Given the description of an element on the screen output the (x, y) to click on. 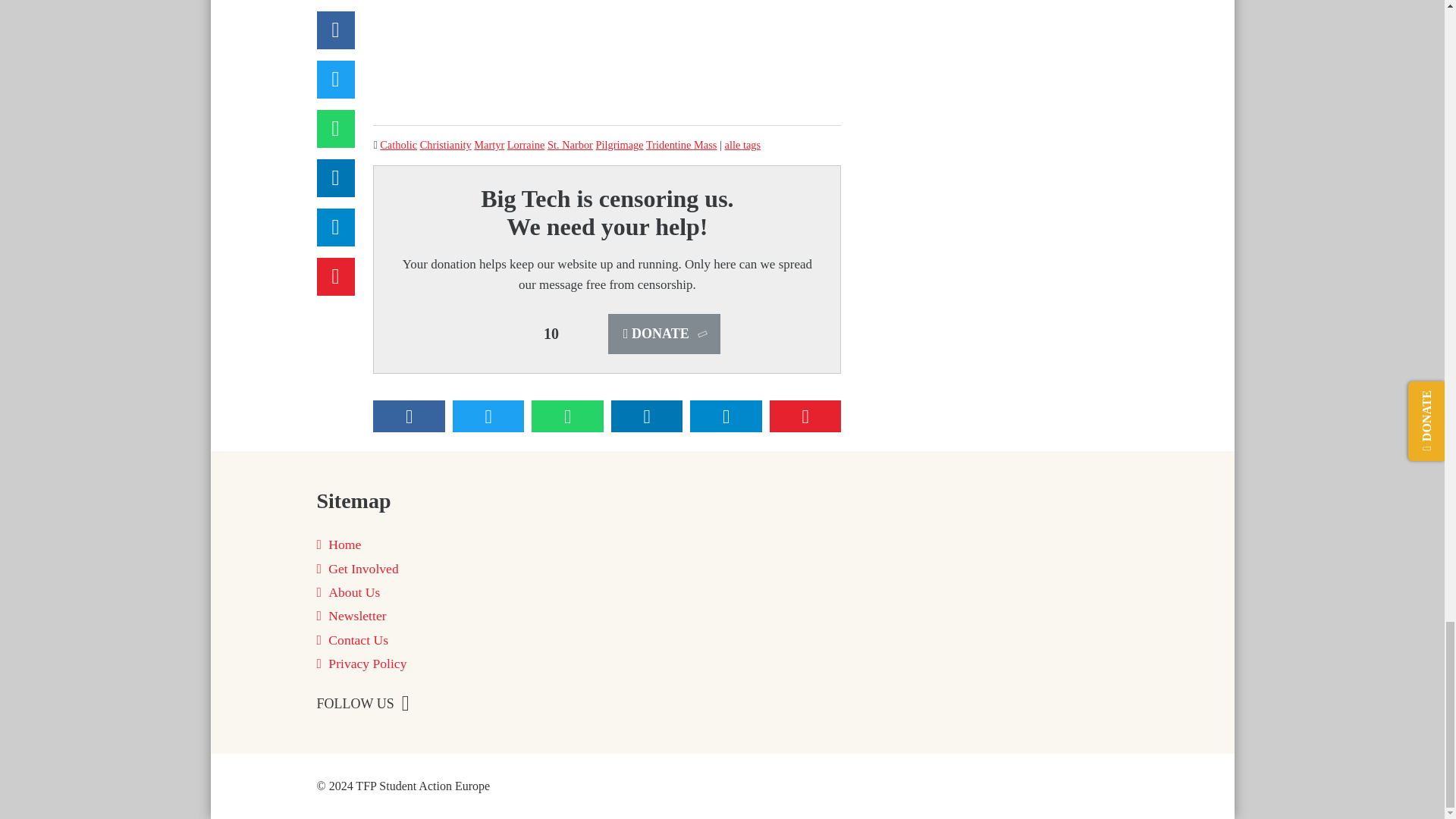
10 (551, 333)
YouTube video player (606, 49)
